Given the description of an element on the screen output the (x, y) to click on. 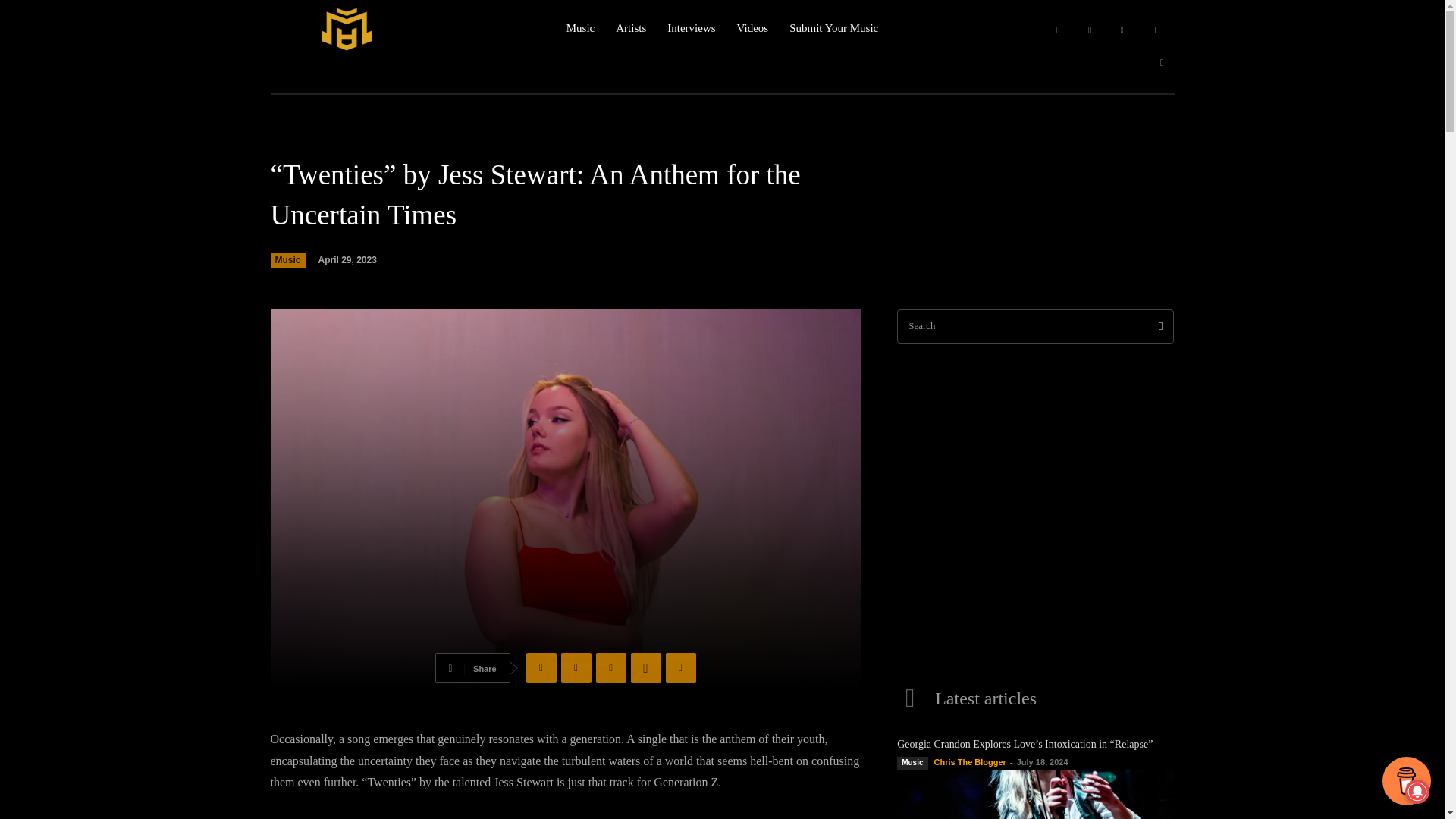
Instagram (1089, 30)
Facebook (540, 667)
Twitter (1162, 62)
Music (286, 259)
Submit Your Music (833, 28)
Facebook (1057, 30)
Medium (1154, 30)
Linkedin (1122, 30)
